Given the description of an element on the screen output the (x, y) to click on. 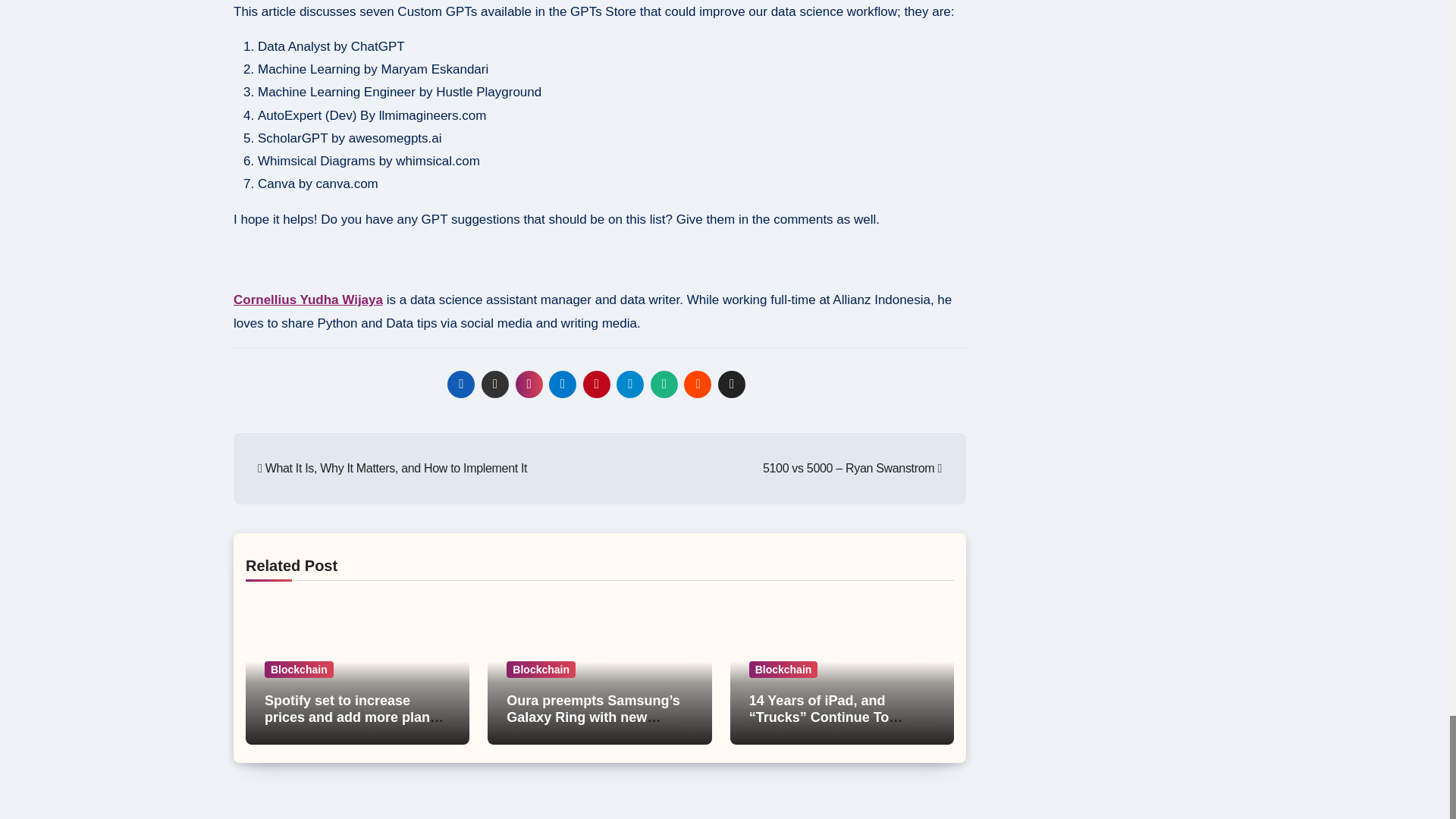
Blockchain (298, 669)
Cornellius Yudha Wijaya (307, 299)
What It Is, Why It Matters, and How to Implement It (392, 468)
Blockchain (540, 669)
Spotify set to increase prices and add more plans soon (354, 716)
